Given the description of an element on the screen output the (x, y) to click on. 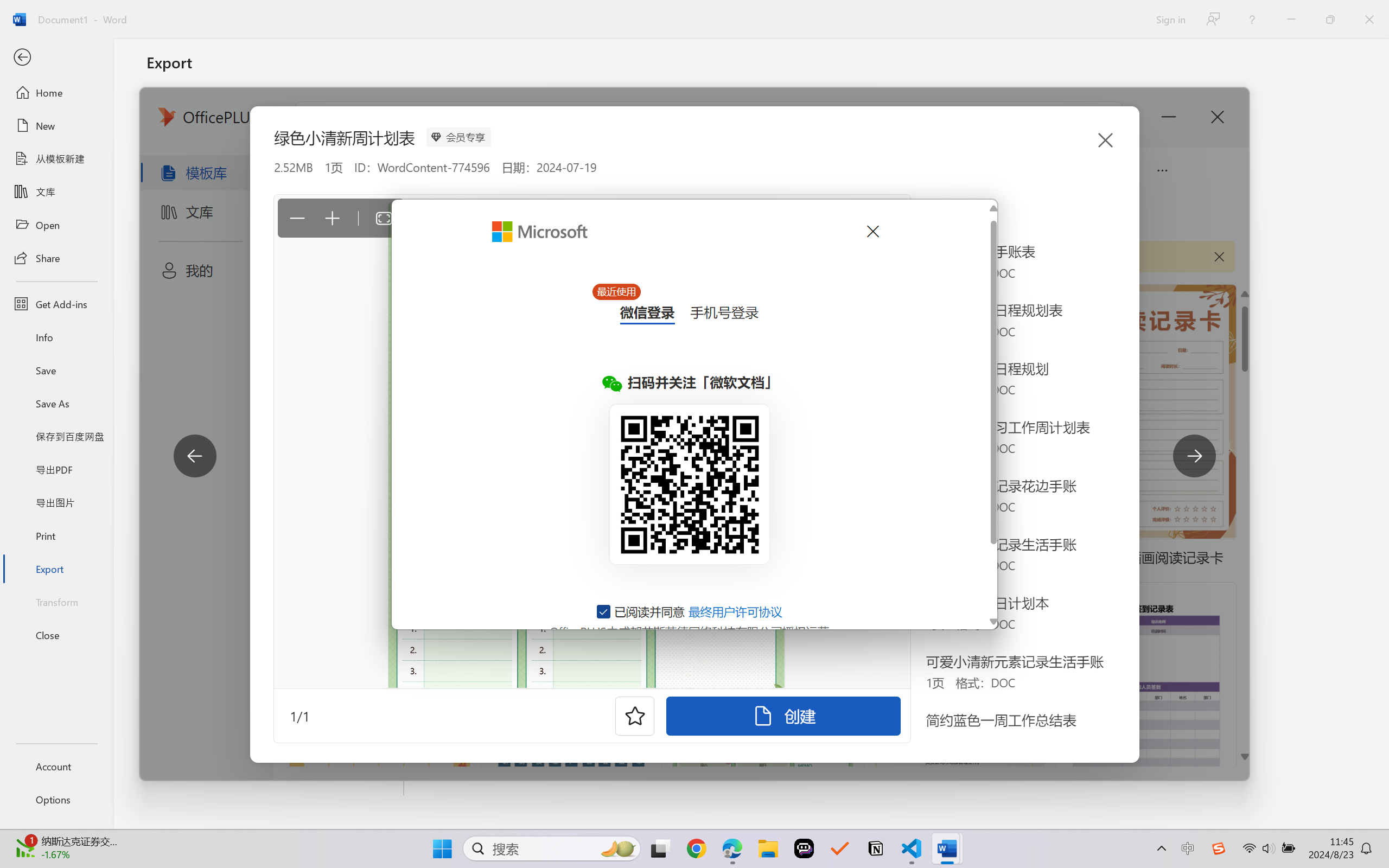
Info (56, 337)
Options (56, 798)
Sign in (1170, 18)
Get Add-ins (56, 303)
Change File Type (275, 158)
